Given the description of an element on the screen output the (x, y) to click on. 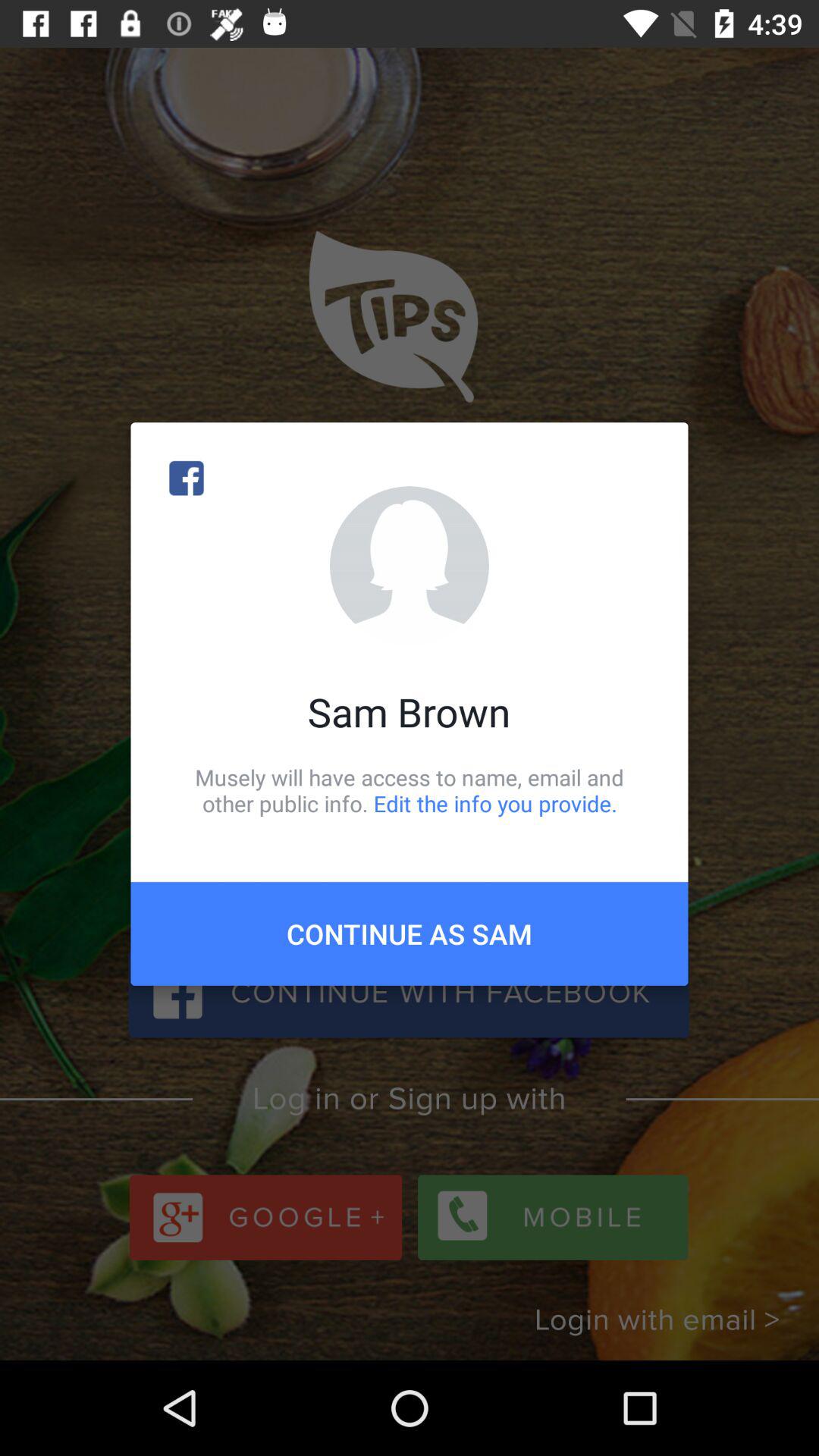
launch musely will have (409, 790)
